Given the description of an element on the screen output the (x, y) to click on. 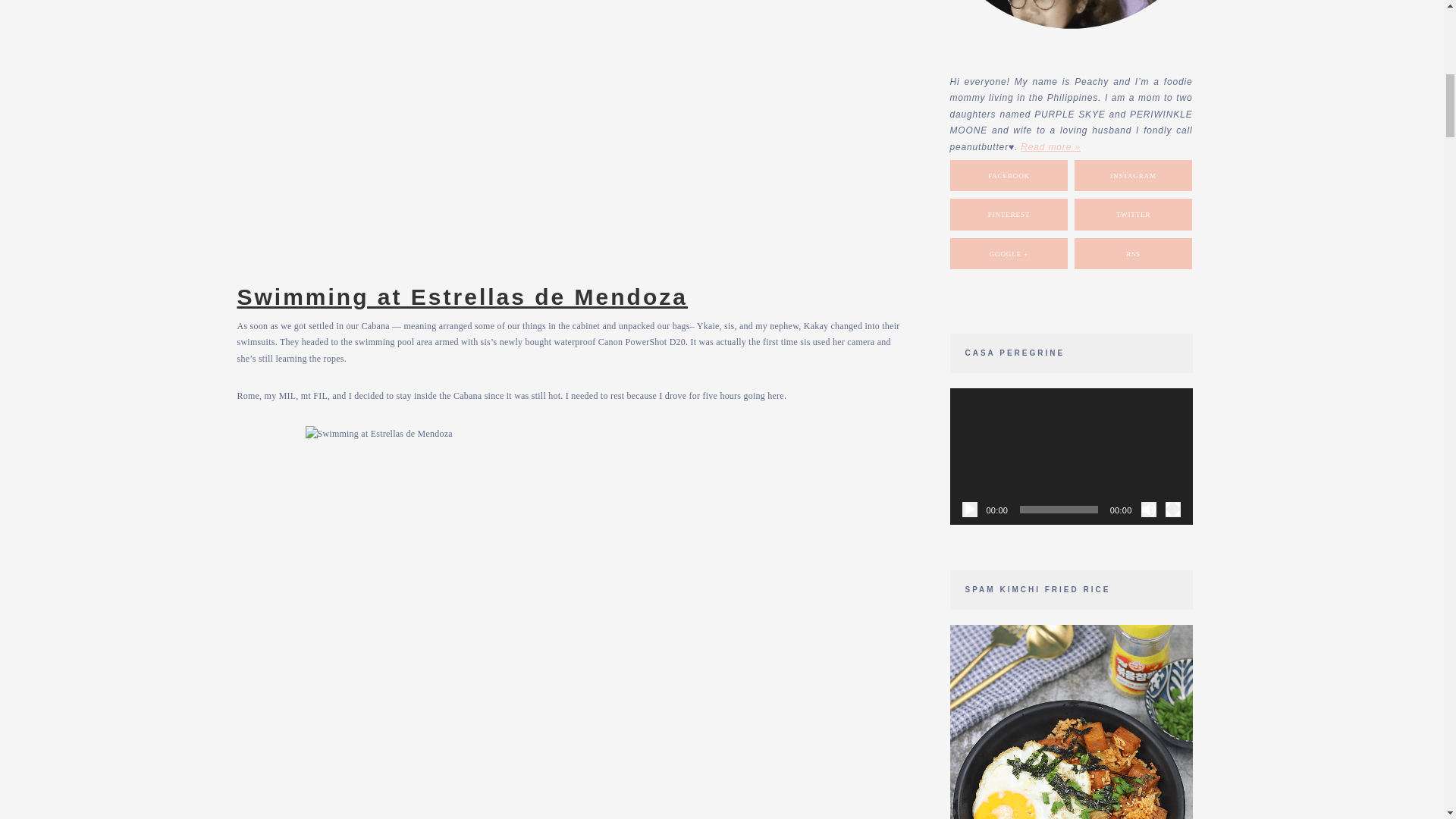
Fullscreen (1171, 509)
FACEBOOK (1008, 175)
Mute (1148, 509)
Play (968, 509)
INSTAGRAM (1132, 175)
